Given the description of an element on the screen output the (x, y) to click on. 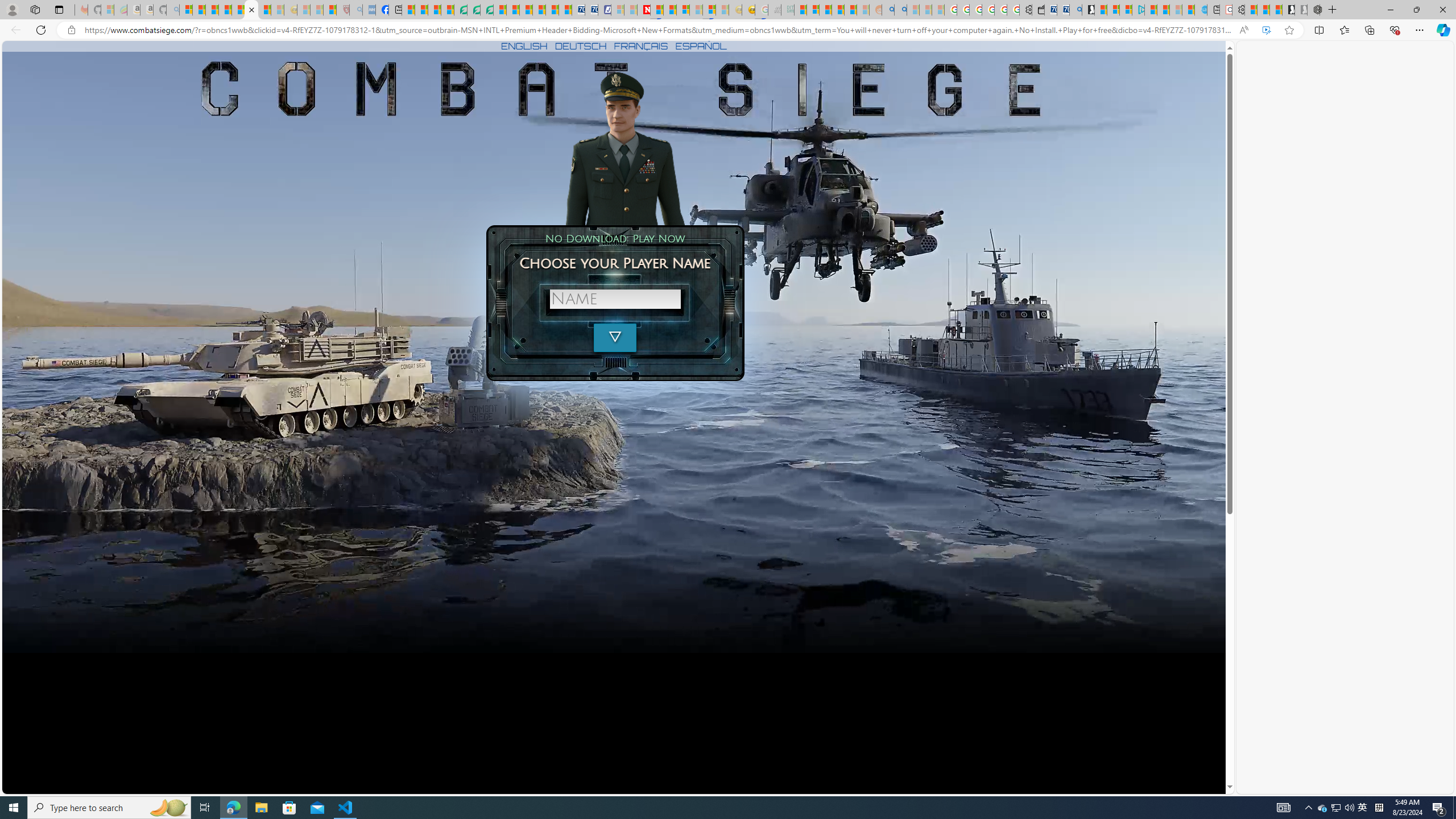
Utah sues federal government - Search (900, 9)
World - MSN (434, 9)
Terms of Use Agreement (473, 9)
Latest Politics News & Archive | Newsweek.com (643, 9)
